Given the description of an element on the screen output the (x, y) to click on. 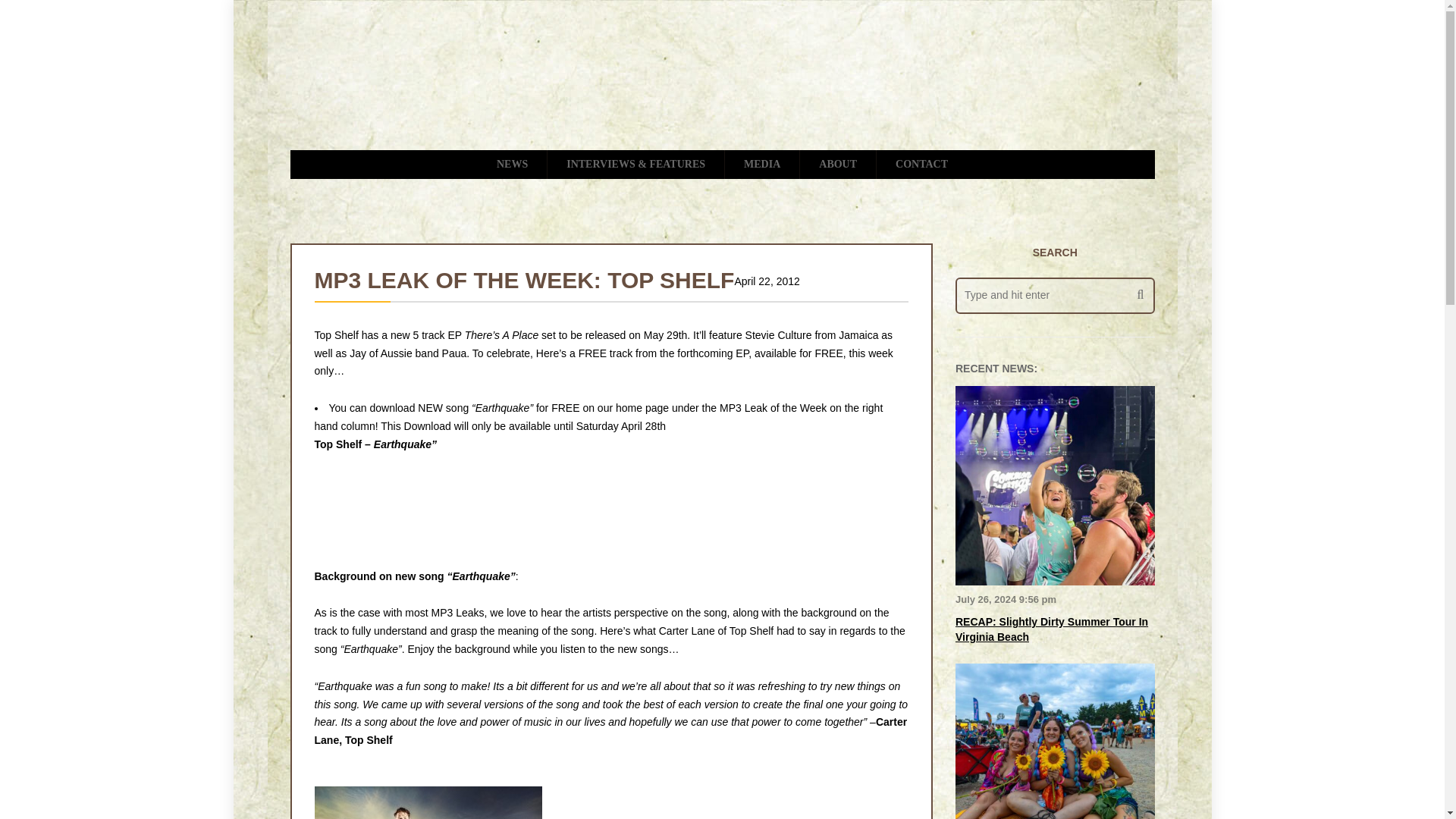
Top Shelf 2012.2 (427, 802)
CONTACT (921, 164)
MP3 LEAK OF THE WEEK: TOP SHELF (523, 279)
RECAP: Slightly Dirty Summer Tour In Virginia Beach (1051, 628)
MEDIA (762, 164)
ABOUT (837, 164)
NEWS (512, 164)
